Given the description of an element on the screen output the (x, y) to click on. 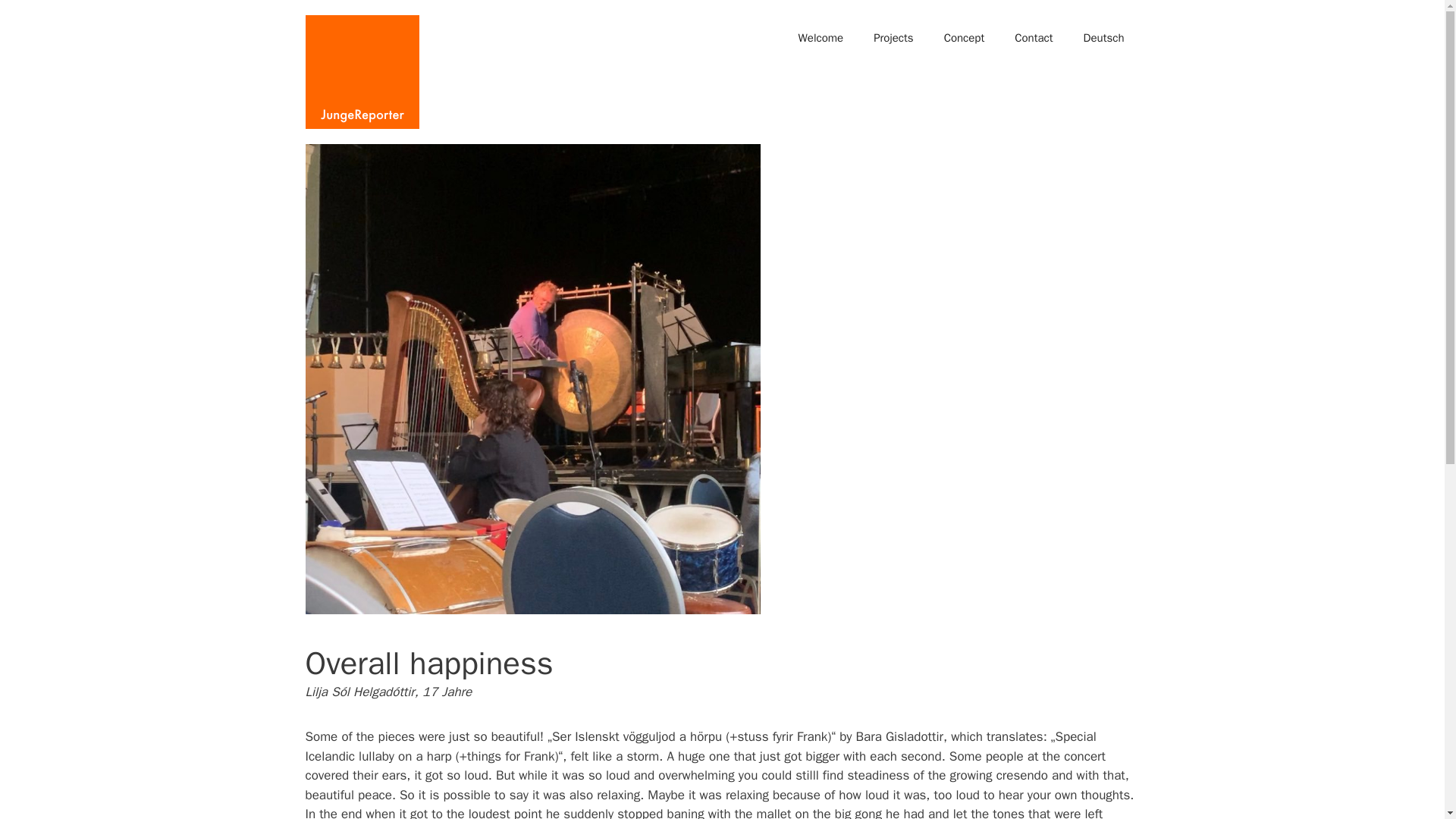
Concept (964, 37)
Projects (893, 37)
Contact (1032, 37)
Deutsch (1104, 37)
Welcome (821, 37)
